Given the description of an element on the screen output the (x, y) to click on. 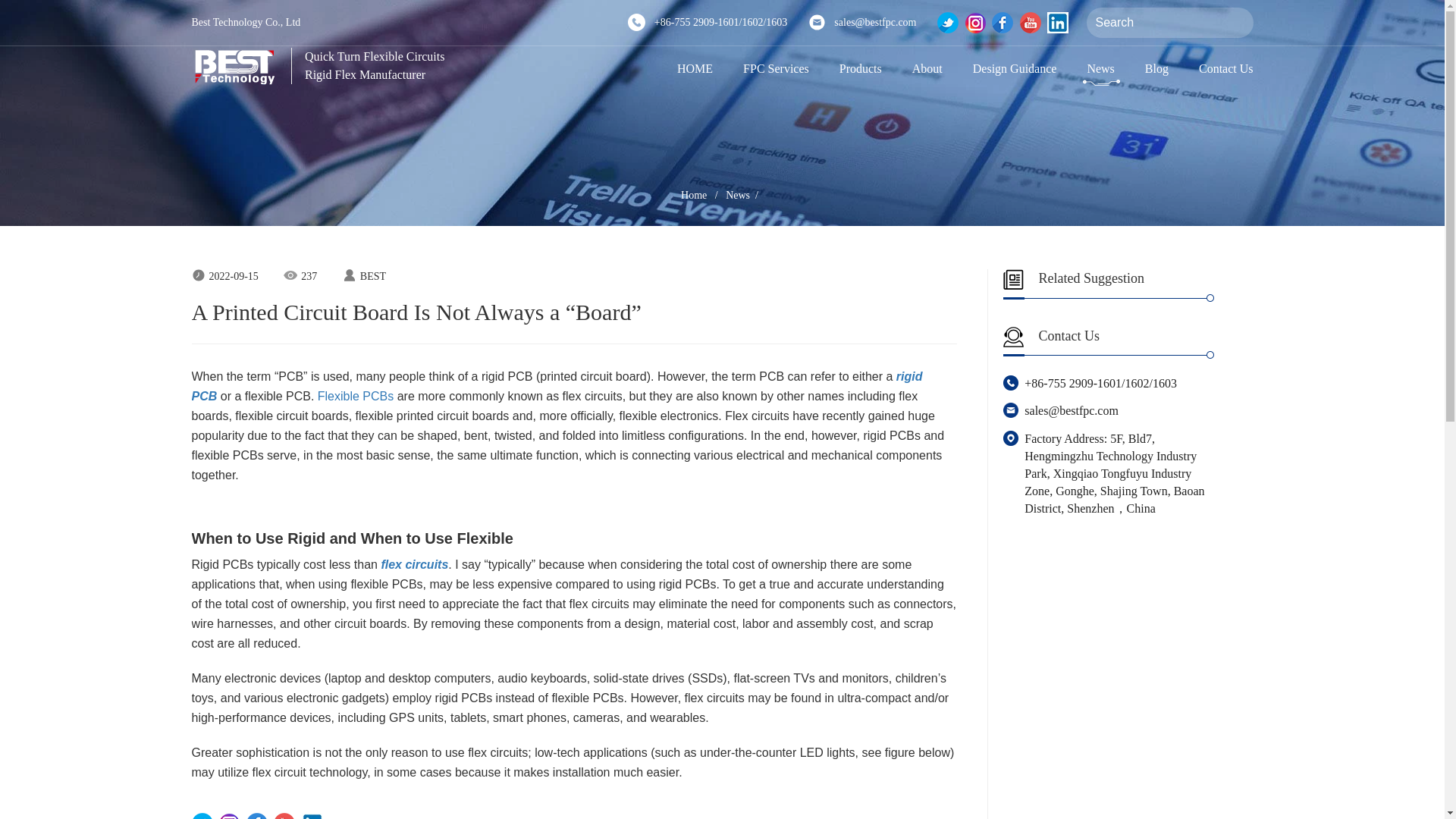
Home (693, 194)
About  (927, 68)
flex circuits (414, 563)
Flexible PCBs (355, 395)
Products  (860, 68)
Blog (1156, 68)
News  (1100, 68)
FPC Services (776, 68)
HOME (695, 68)
Products (860, 68)
Design Guidance (1014, 68)
Design Guidance  (1014, 68)
FPC Services  (776, 68)
News (1100, 68)
